Given the description of an element on the screen output the (x, y) to click on. 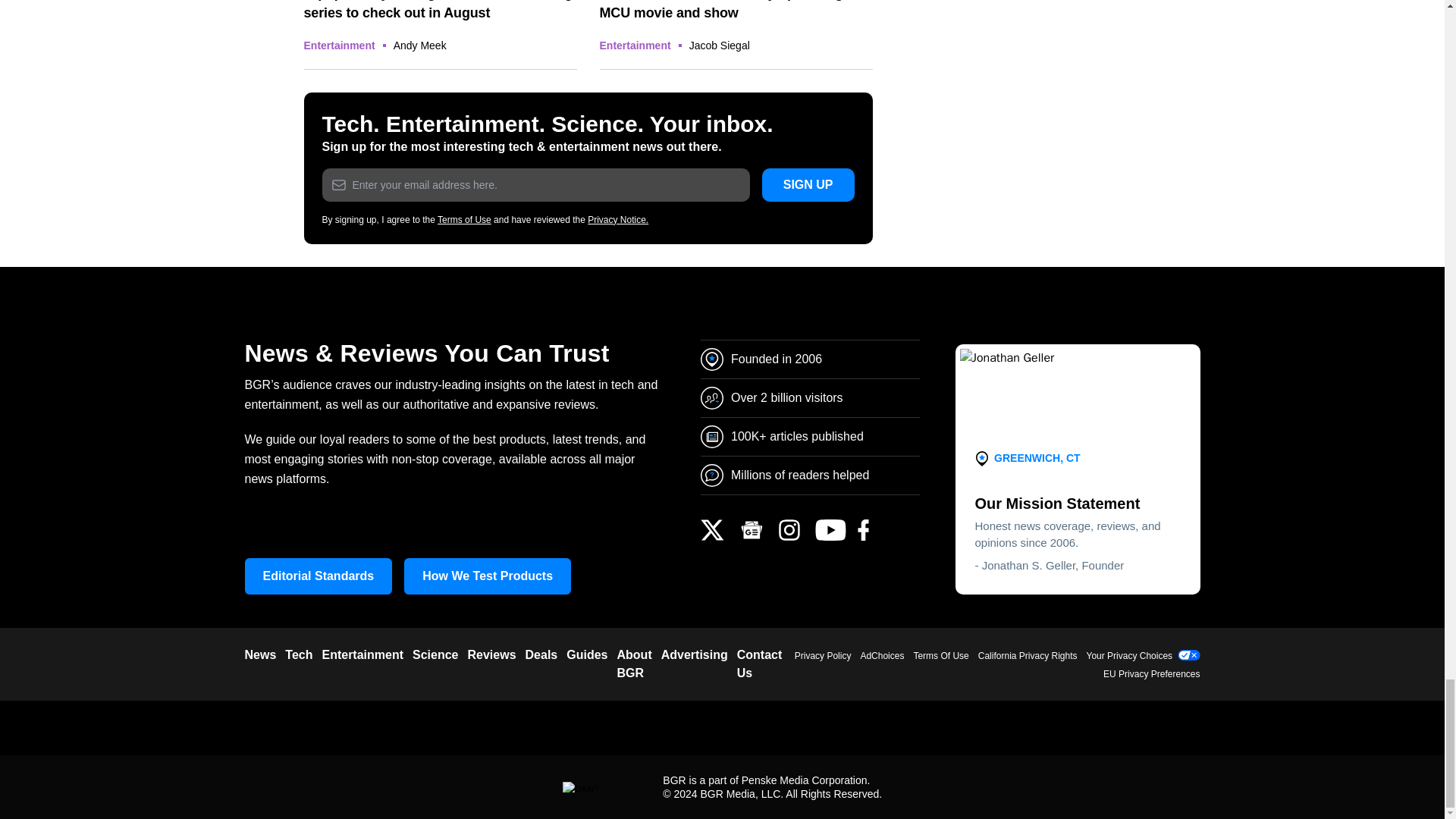
Posts by Andy Meek (419, 45)
Posts by Jacob Siegal (718, 45)
